Given the description of an element on the screen output the (x, y) to click on. 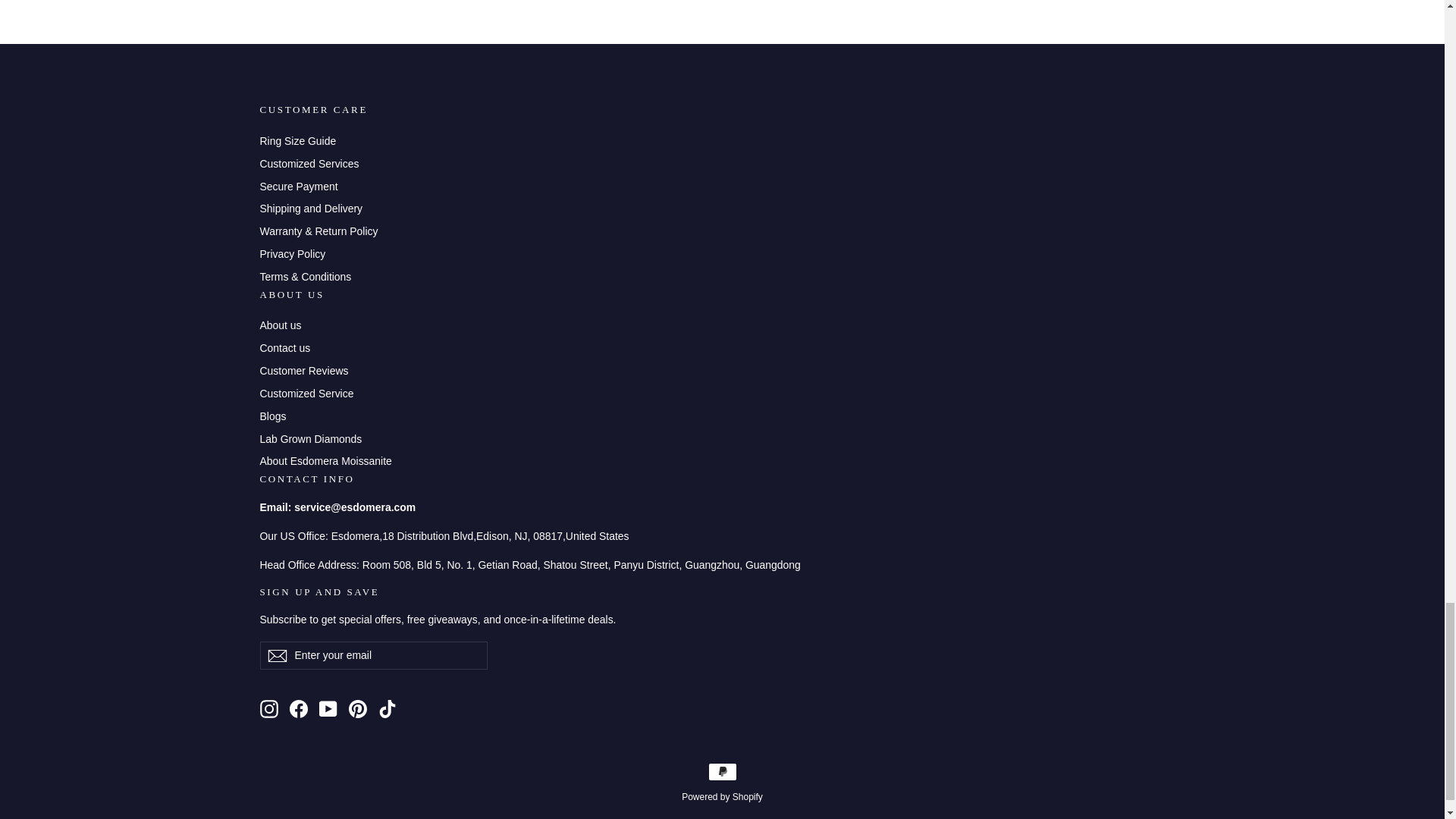
Esdomera on Pinterest (357, 709)
Esdomera on YouTube (327, 709)
Esdomera on Instagram (268, 709)
Esdomera on TikTok (386, 709)
Esdomera on Facebook (298, 709)
